Given the description of an element on the screen output the (x, y) to click on. 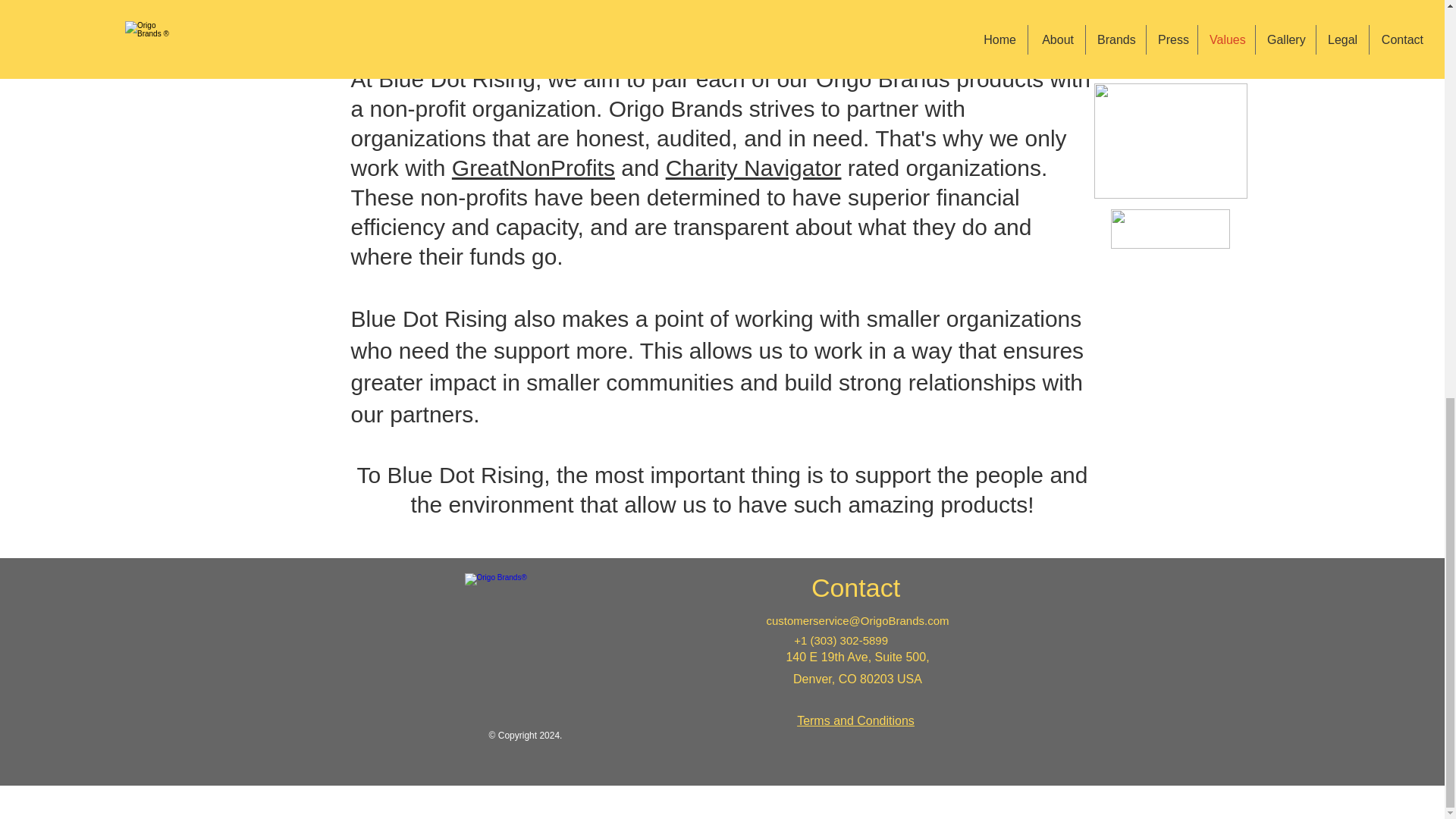
GreatNonProfits (532, 167)
Charity Navigator (753, 167)
Terms and Conditions (855, 720)
